Given the description of an element on the screen output the (x, y) to click on. 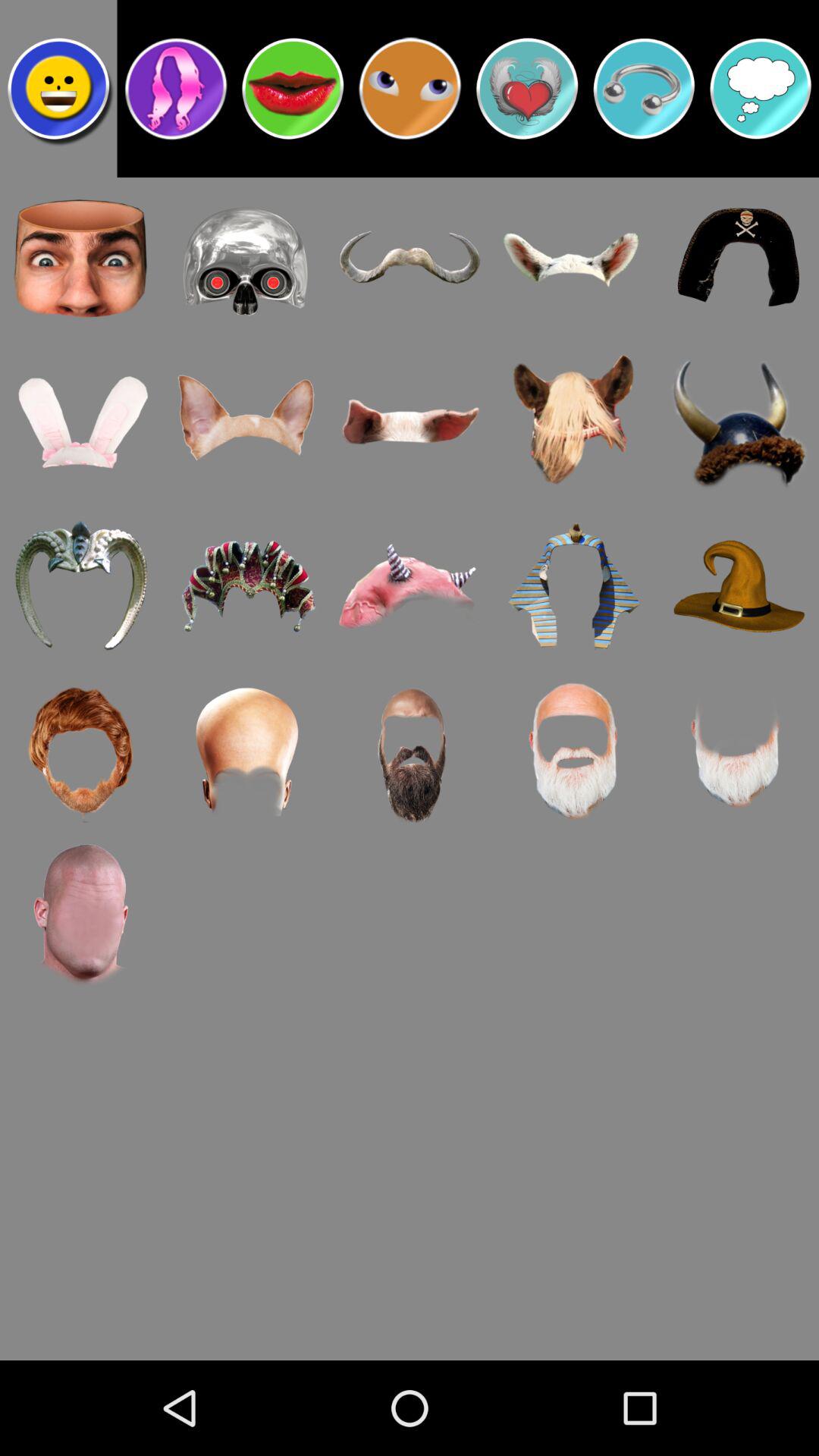
select the heart symbol option (526, 88)
